Given the description of an element on the screen output the (x, y) to click on. 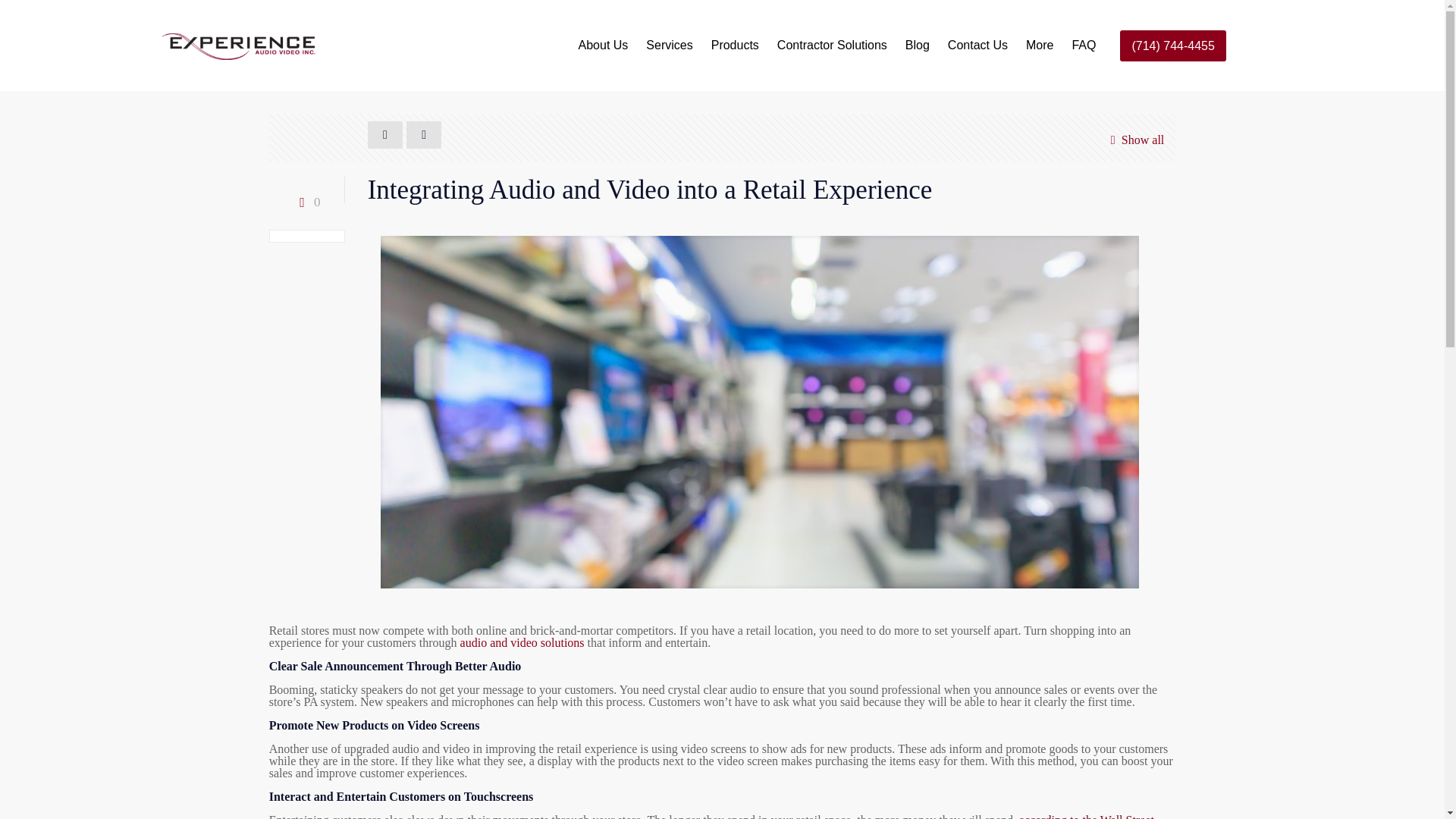
About Us (603, 45)
Services (669, 45)
